Given the description of an element on the screen output the (x, y) to click on. 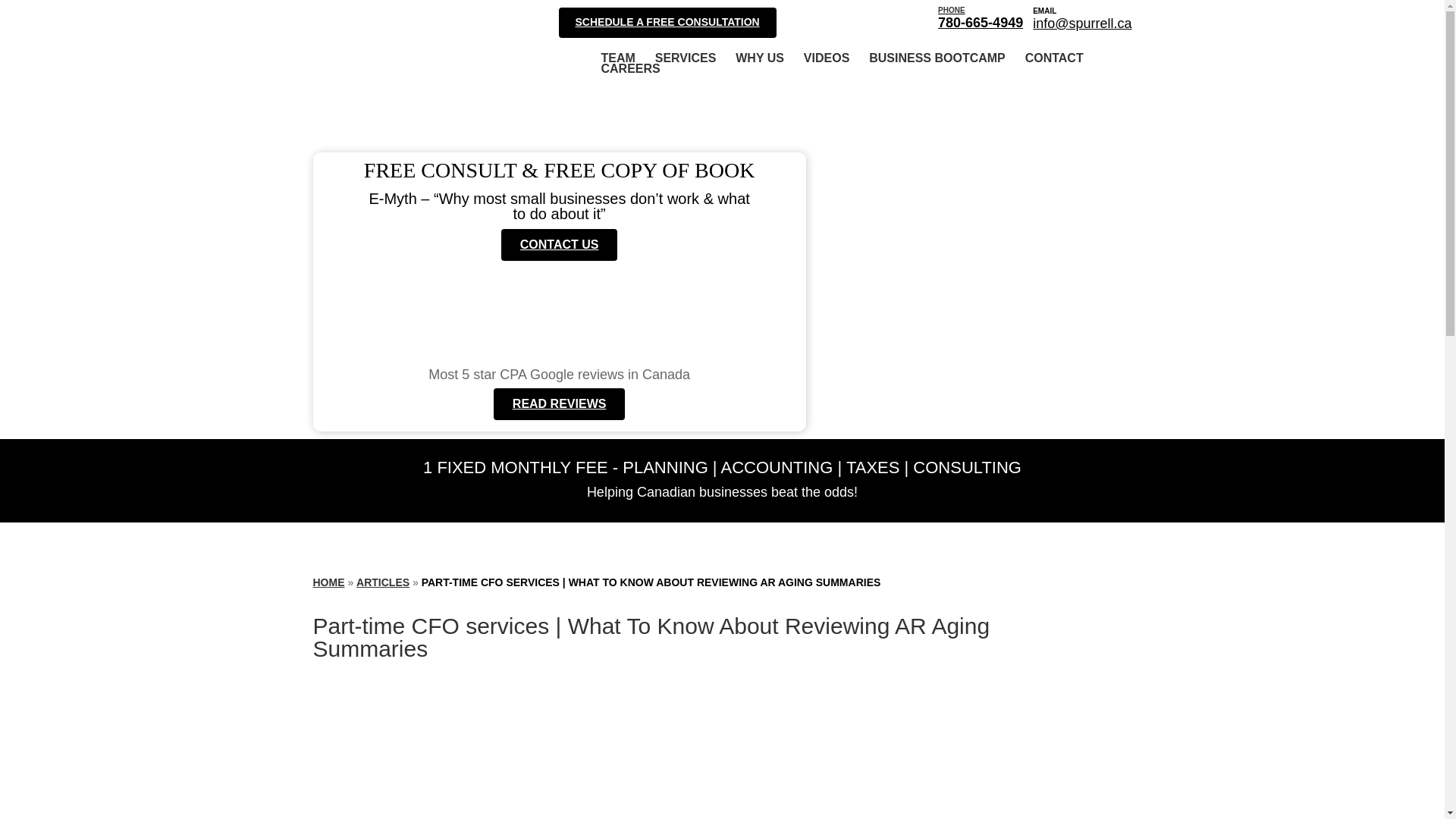
TEAM (616, 58)
BUSINESS BOOTCAMP (937, 58)
SERVICES (685, 58)
CONTACT US (558, 245)
SCHEDULE A FREE CONSULTATION (666, 22)
READ REVIEWS (559, 404)
CONTACT (1054, 58)
ARTICLES (382, 582)
CAREERS (629, 68)
WHY US (759, 58)
